Given the description of an element on the screen output the (x, y) to click on. 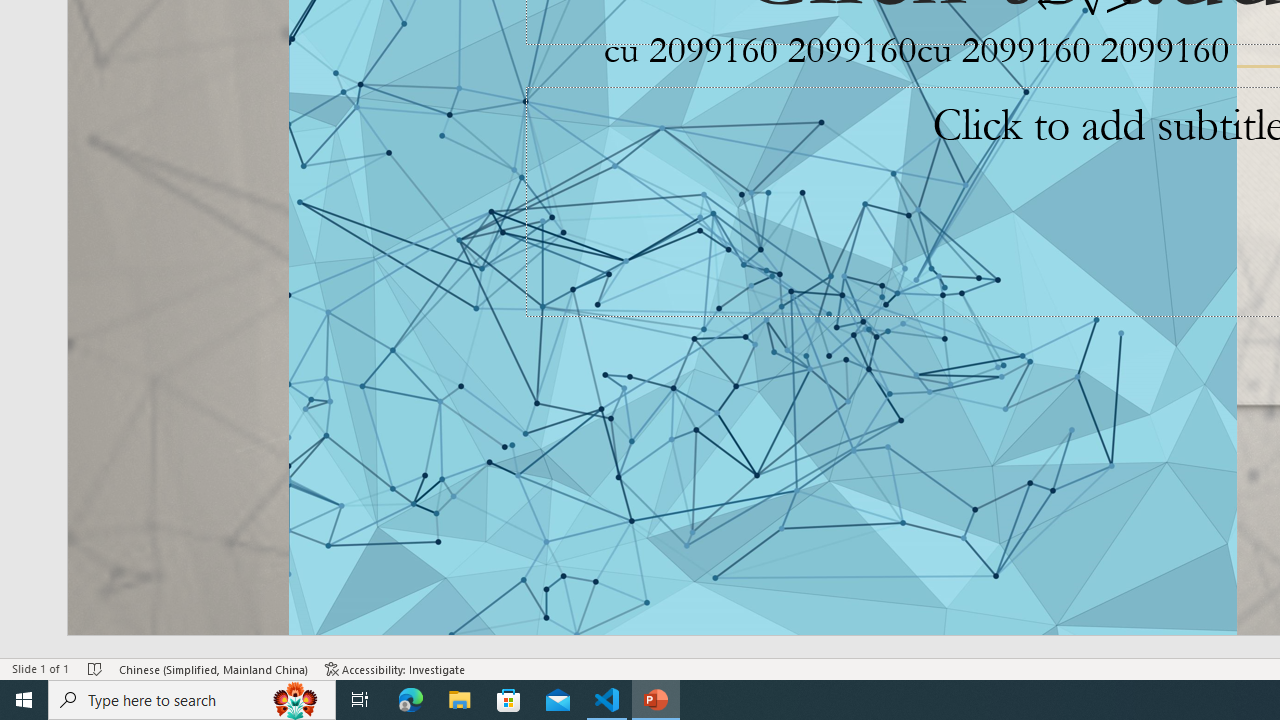
Spell Check No Errors (95, 668)
Accessibility Checker Accessibility: Investigate (395, 668)
